Given the description of an element on the screen output the (x, y) to click on. 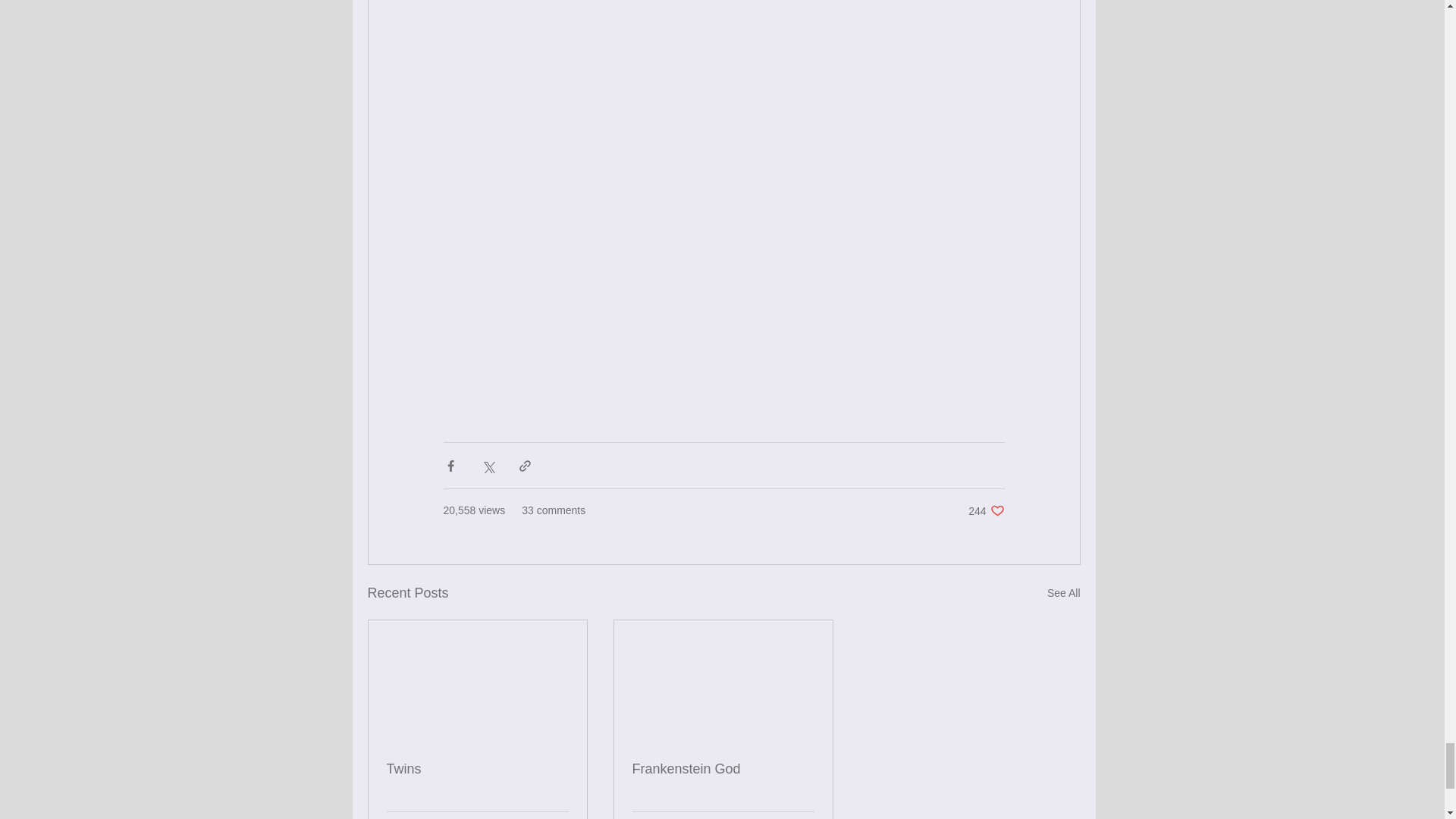
See All (1063, 593)
Frankenstein God (986, 510)
Twins (722, 769)
